Given the description of an element on the screen output the (x, y) to click on. 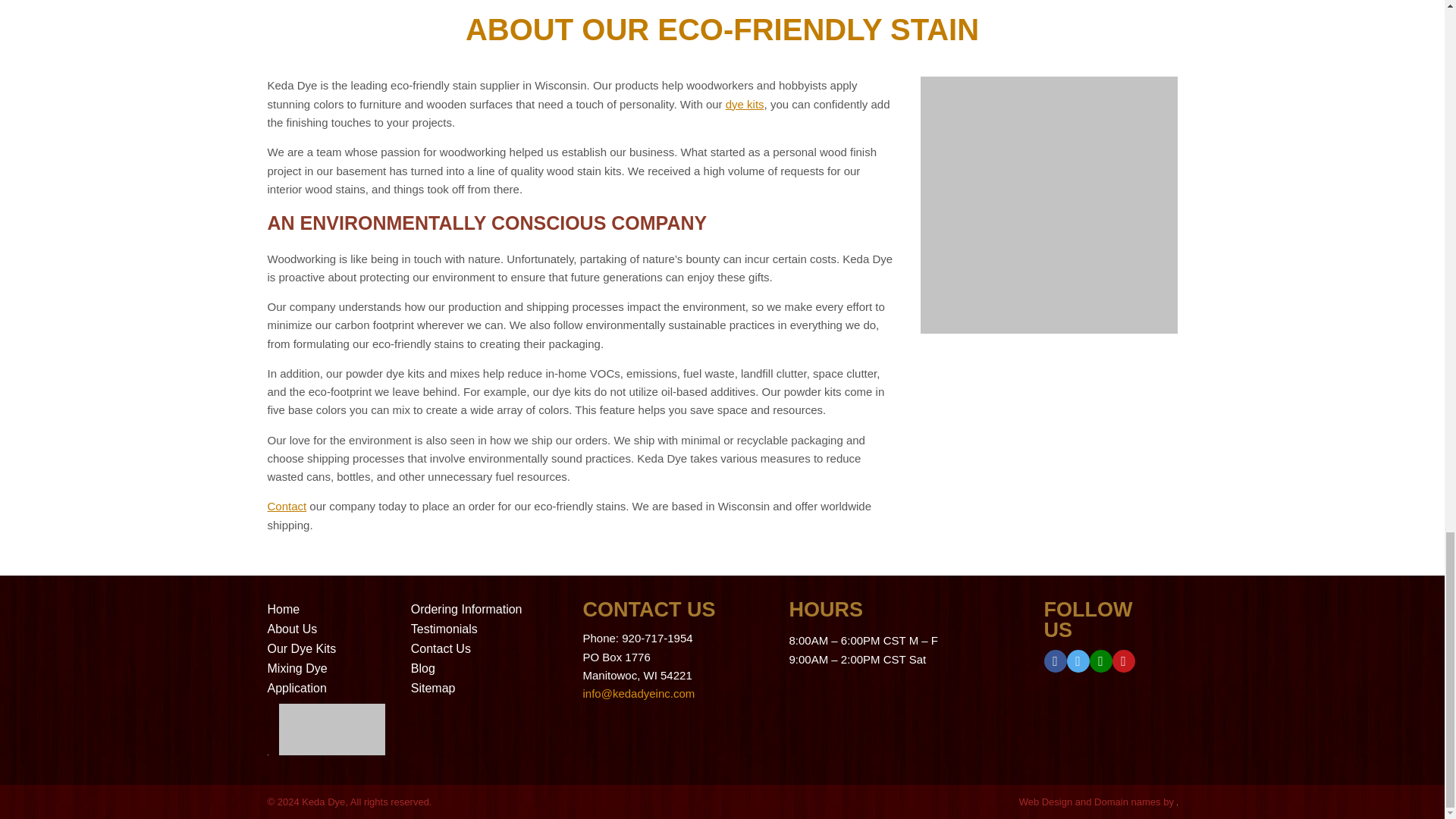
Mixing Dye (296, 667)
Ordering Information (466, 608)
dye kits (744, 103)
Sitemap (432, 687)
Blog (422, 667)
Contact (285, 505)
Application (296, 687)
Our Dye Kits (301, 648)
Testimonials (443, 628)
